Given the description of an element on the screen output the (x, y) to click on. 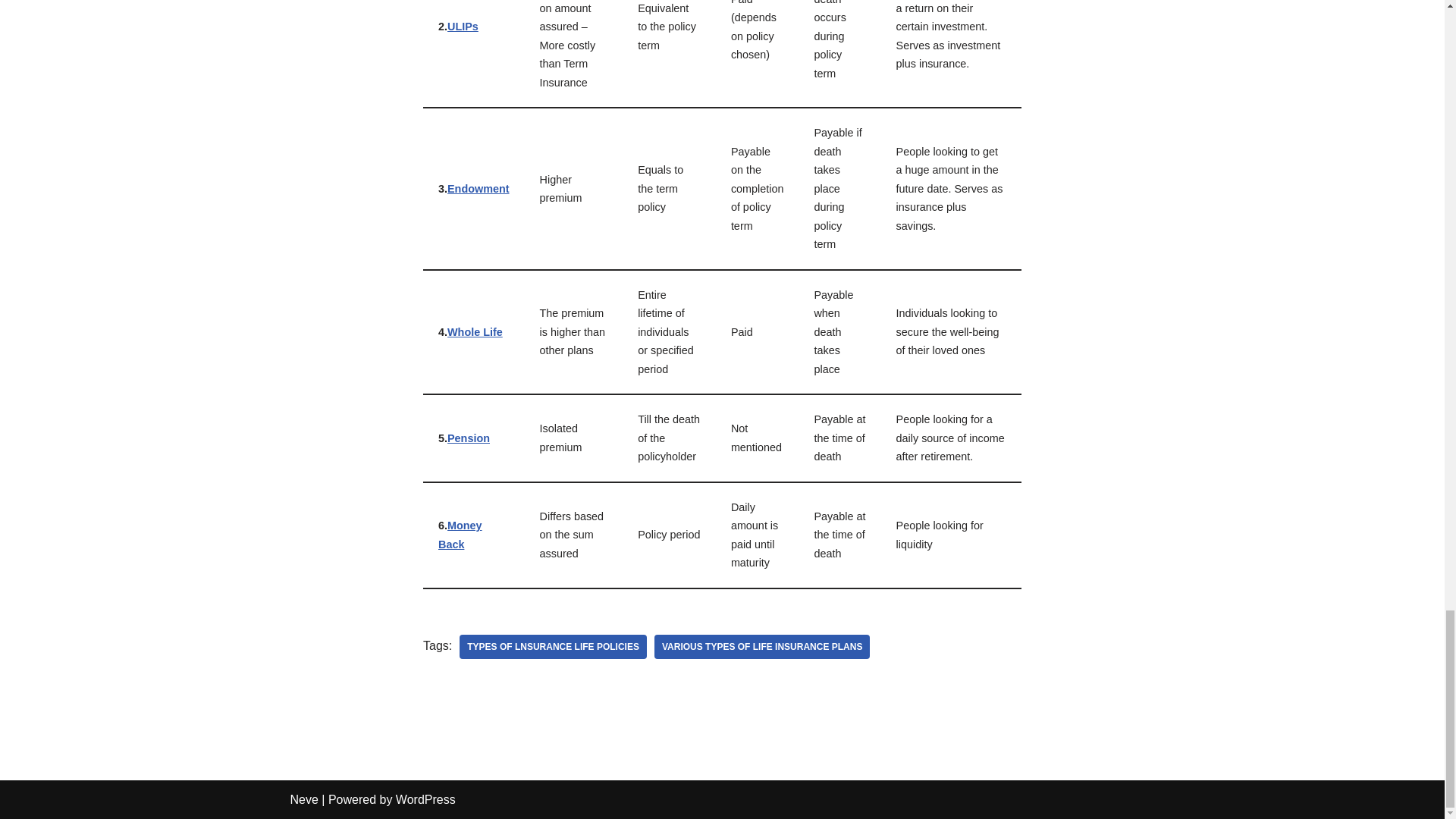
various types of life insurance plans (761, 646)
Money Back (459, 534)
types of lnsurance life policies (553, 646)
VARIOUS TYPES OF LIFE INSURANCE PLANS (761, 646)
ULIPs (462, 26)
Pension (467, 438)
WordPress (425, 799)
Neve (303, 799)
Endowment (477, 188)
TYPES OF LNSURANCE LIFE POLICIES (553, 646)
